Given the description of an element on the screen output the (x, y) to click on. 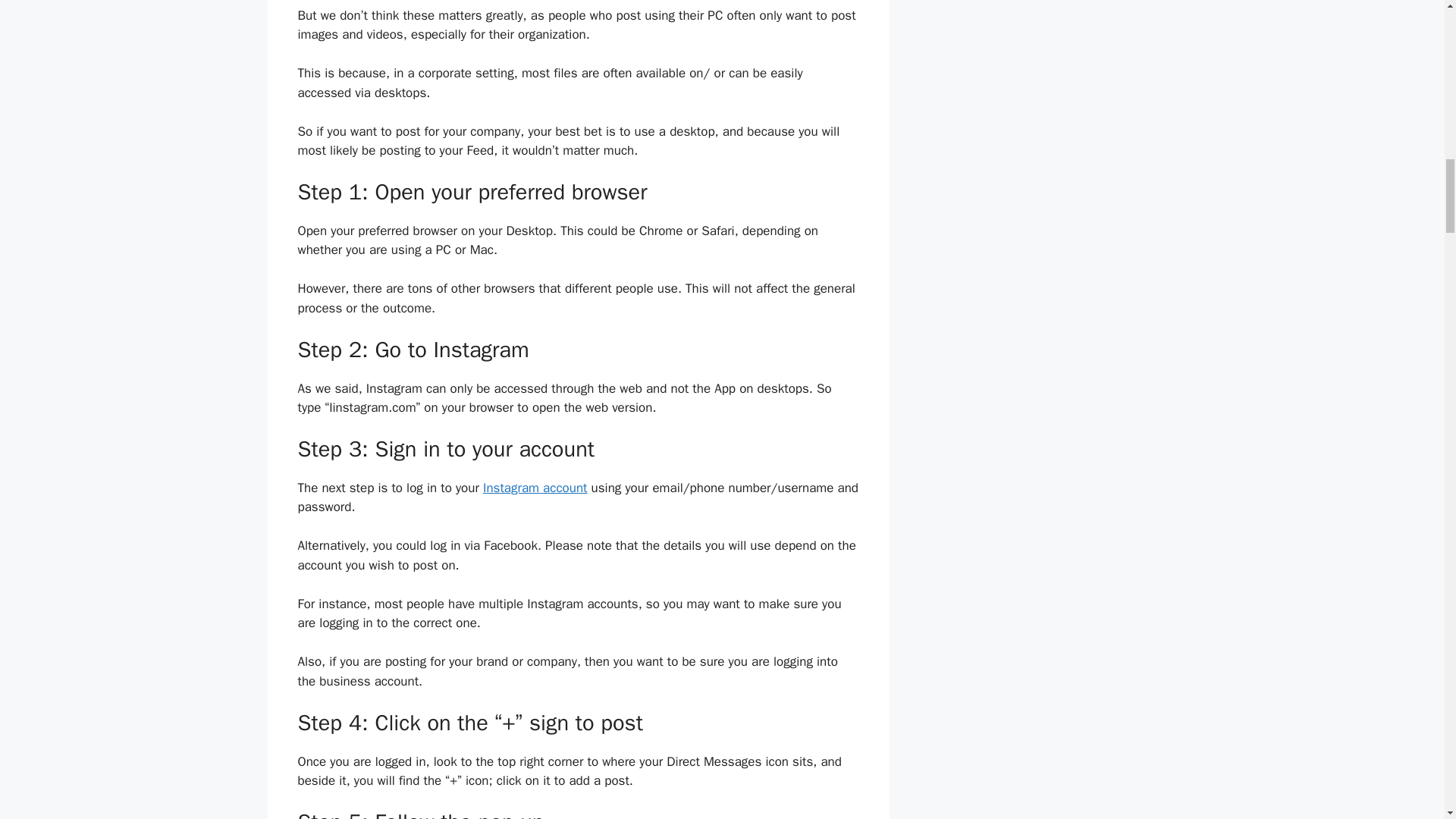
Instagram account (535, 487)
